Given the description of an element on the screen output the (x, y) to click on. 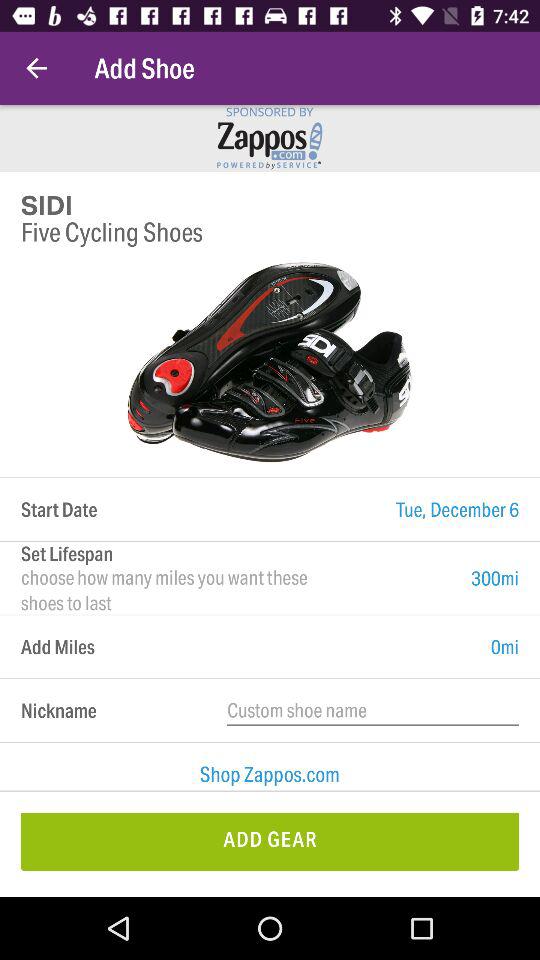
click the item to the right of the nickname (373, 710)
